Given the description of an element on the screen output the (x, y) to click on. 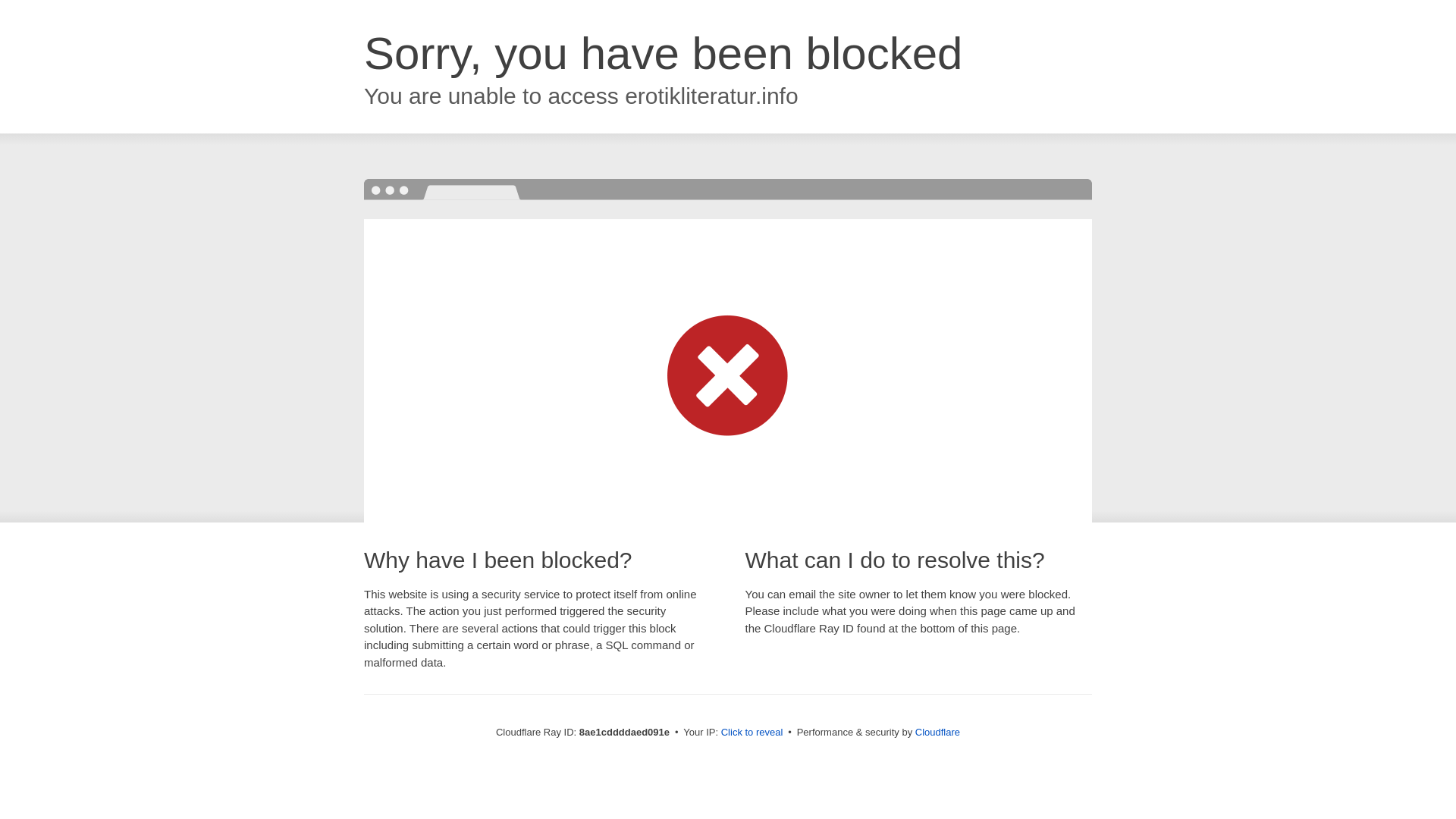
Click to reveal (751, 732)
Cloudflare (937, 731)
